Given the description of an element on the screen output the (x, y) to click on. 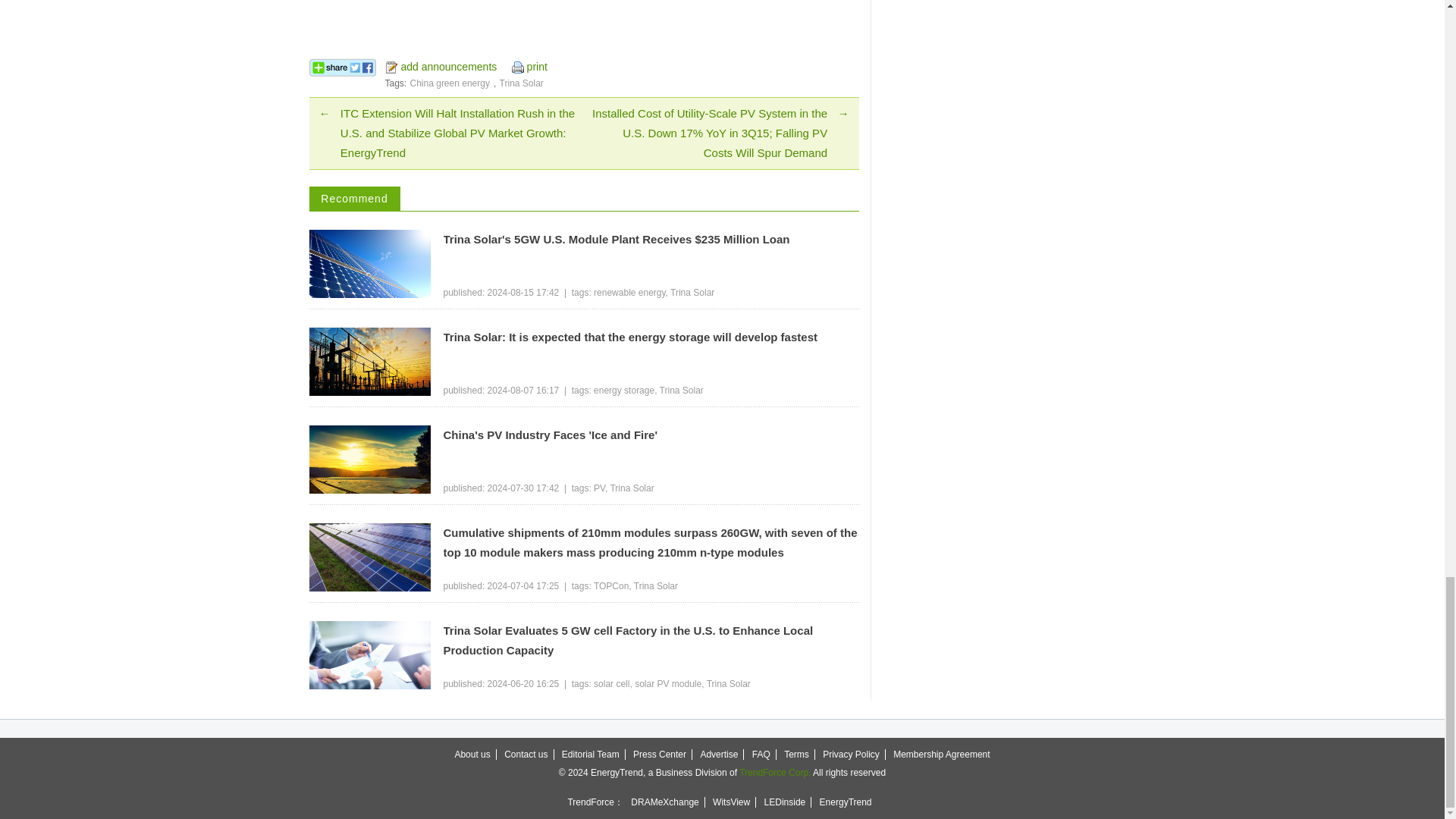
China's PV Industry Faces 'Ice and Fire' (650, 435)
